Given the description of an element on the screen output the (x, y) to click on. 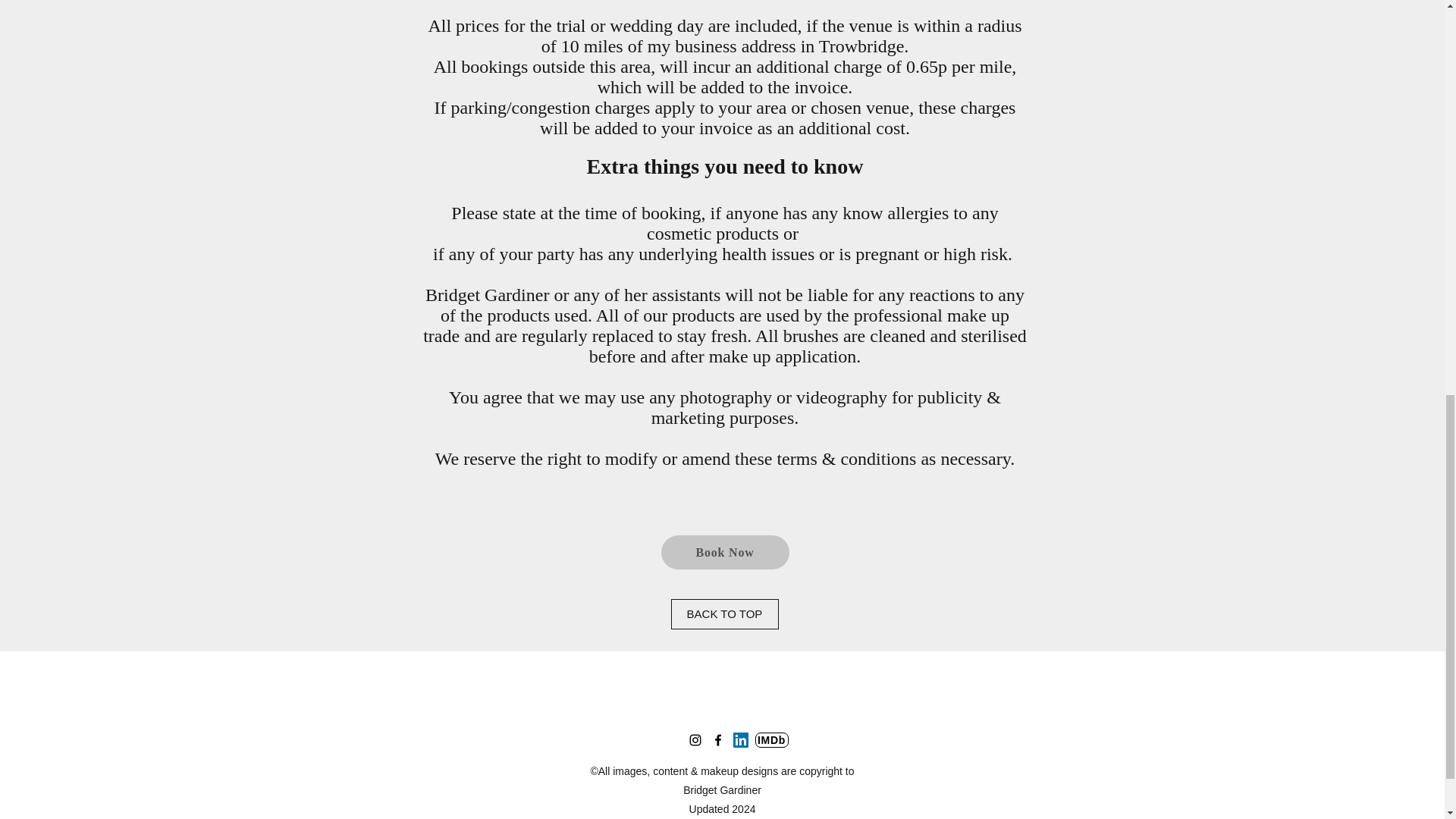
BACK TO TOP (723, 613)
Book Now (725, 552)
IMDb (772, 739)
